Given the description of an element on the screen output the (x, y) to click on. 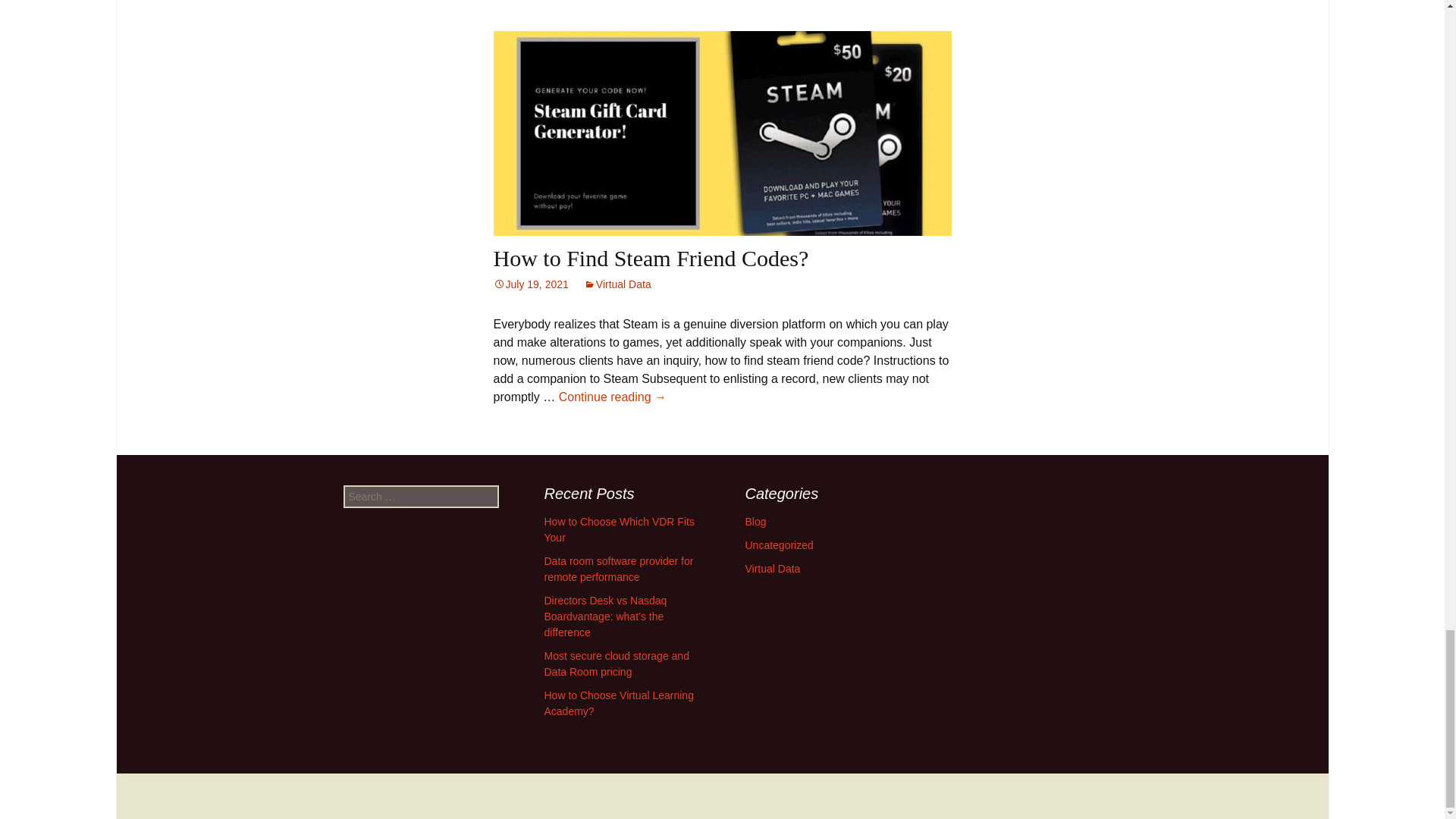
Virtual Data (616, 284)
July 19, 2021 (530, 284)
How to Find Steam Friend Codes? (650, 258)
Permalink to How to Find Steam Friend Codes? (530, 284)
